Given the description of an element on the screen output the (x, y) to click on. 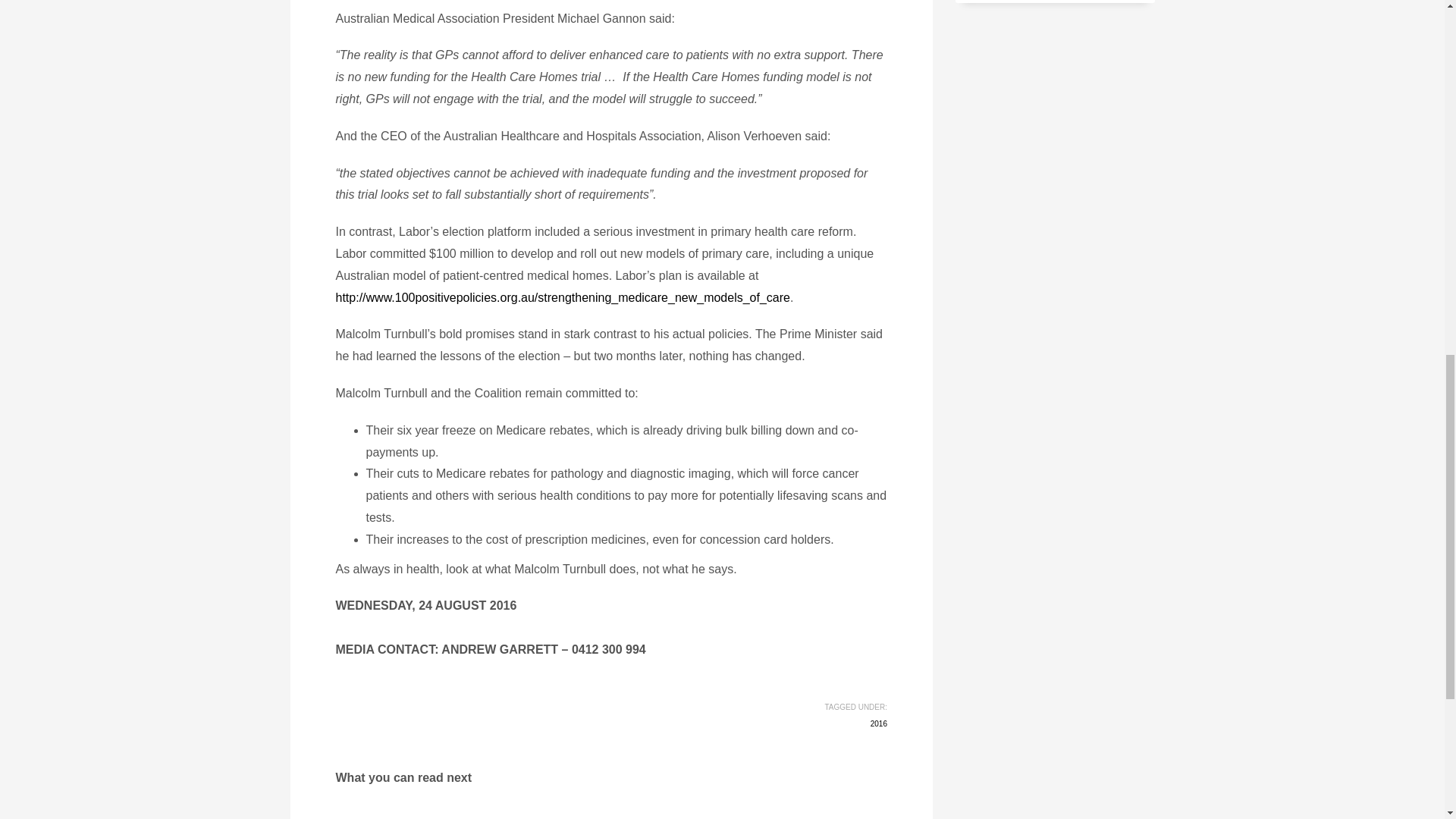
LABOR WILL SUPPORT NEW PARENTS (790, 818)
2016 (878, 723)
